Given the description of an element on the screen output the (x, y) to click on. 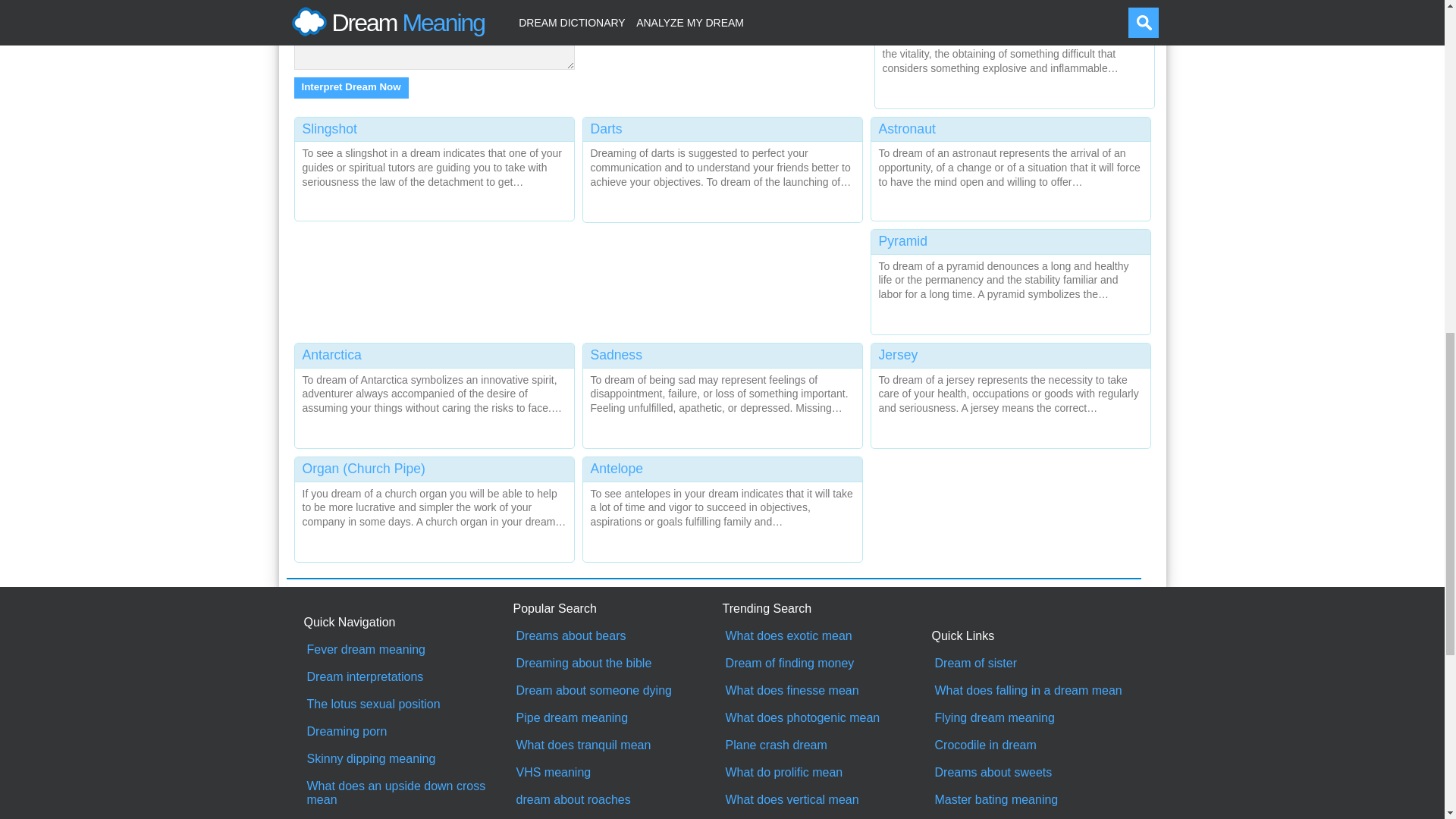
Interpret Dream Now (351, 87)
Dream interpretations (407, 676)
dream about roaches (617, 799)
Darts Dream Meaning (721, 166)
Dreams about bears (617, 635)
VHS meaning (617, 772)
Skinny dipping meaning (407, 758)
What does tranquil mean (617, 745)
Pipe dream meaning (617, 717)
Pyramid Dream Meaning (1010, 278)
